Given the description of an element on the screen output the (x, y) to click on. 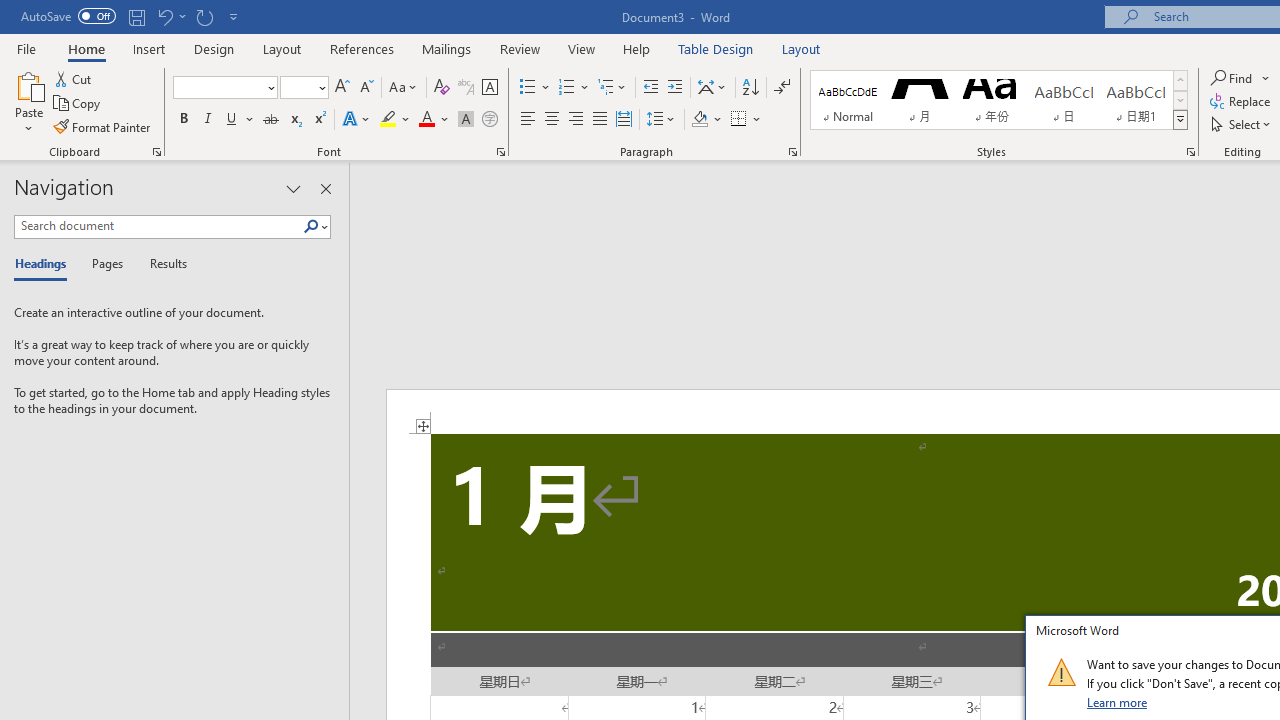
Styles (1179, 120)
Font Size (297, 87)
Change Case (404, 87)
Superscript (319, 119)
Mailings (447, 48)
Asian Layout (712, 87)
Task Pane Options (293, 188)
Styles... (1190, 151)
Design (214, 48)
Save (136, 15)
Underline (239, 119)
Headings (45, 264)
